Given the description of an element on the screen output the (x, y) to click on. 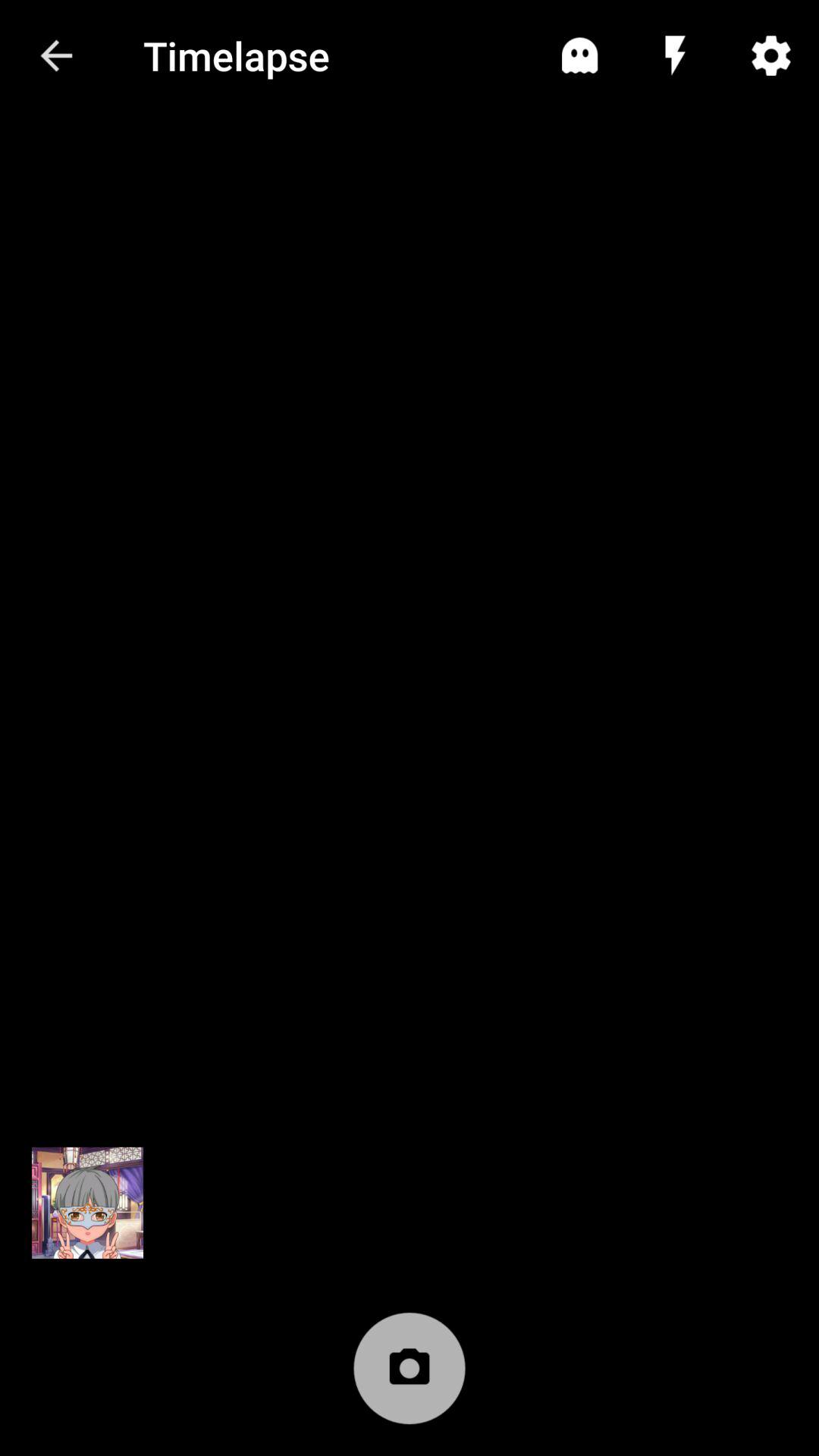
select icon at the bottom (409, 1376)
